Given the description of an element on the screen output the (x, y) to click on. 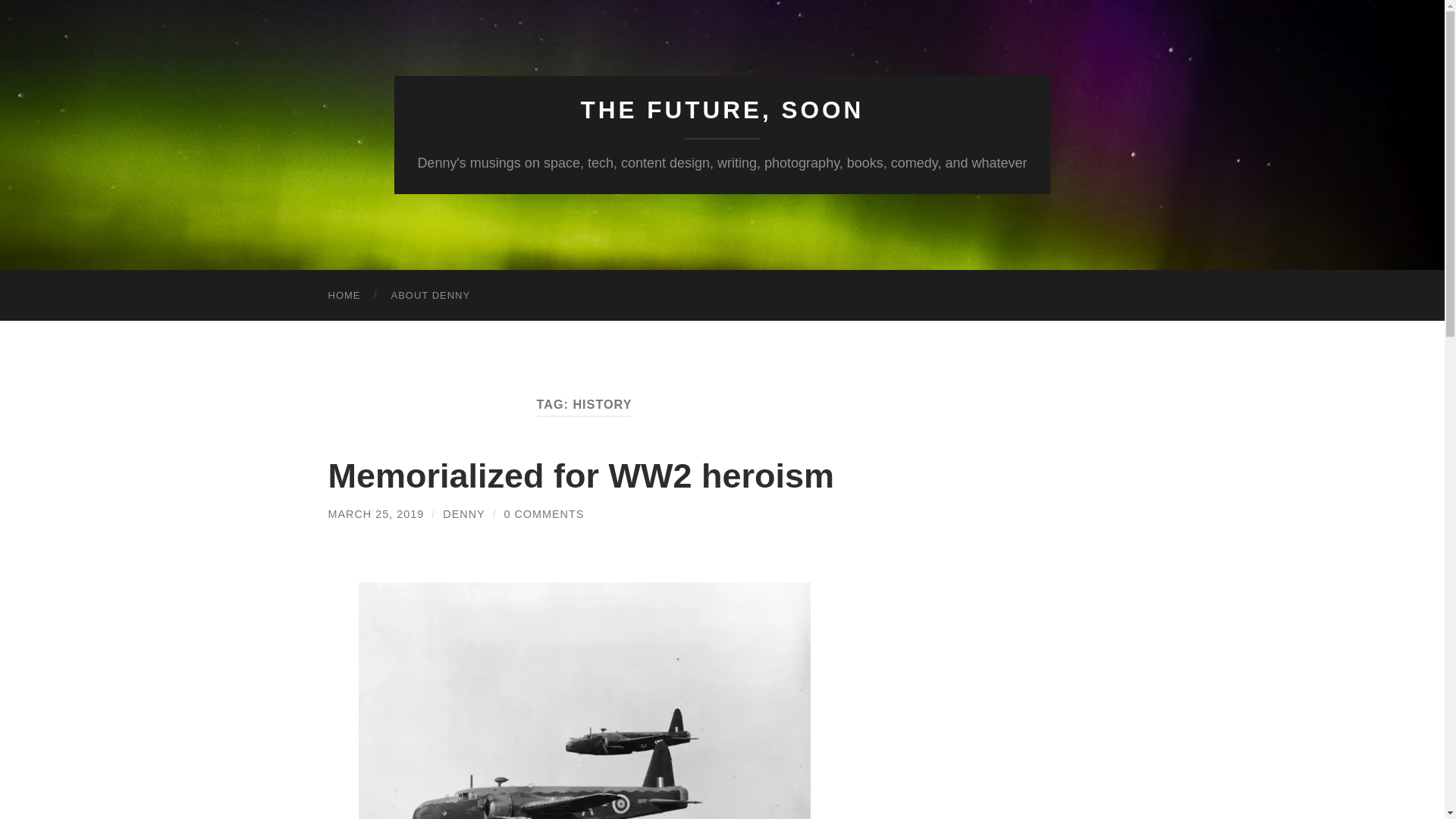
DENNY (463, 513)
0 COMMENTS (543, 513)
HOME (344, 295)
ABOUT DENNY (430, 295)
THE FUTURE, SOON (722, 109)
MARCH 25, 2019 (375, 513)
Wellington (583, 700)
Memorialized for WW2 heroism (580, 475)
Posts by Denny (463, 513)
